Given the description of an element on the screen output the (x, y) to click on. 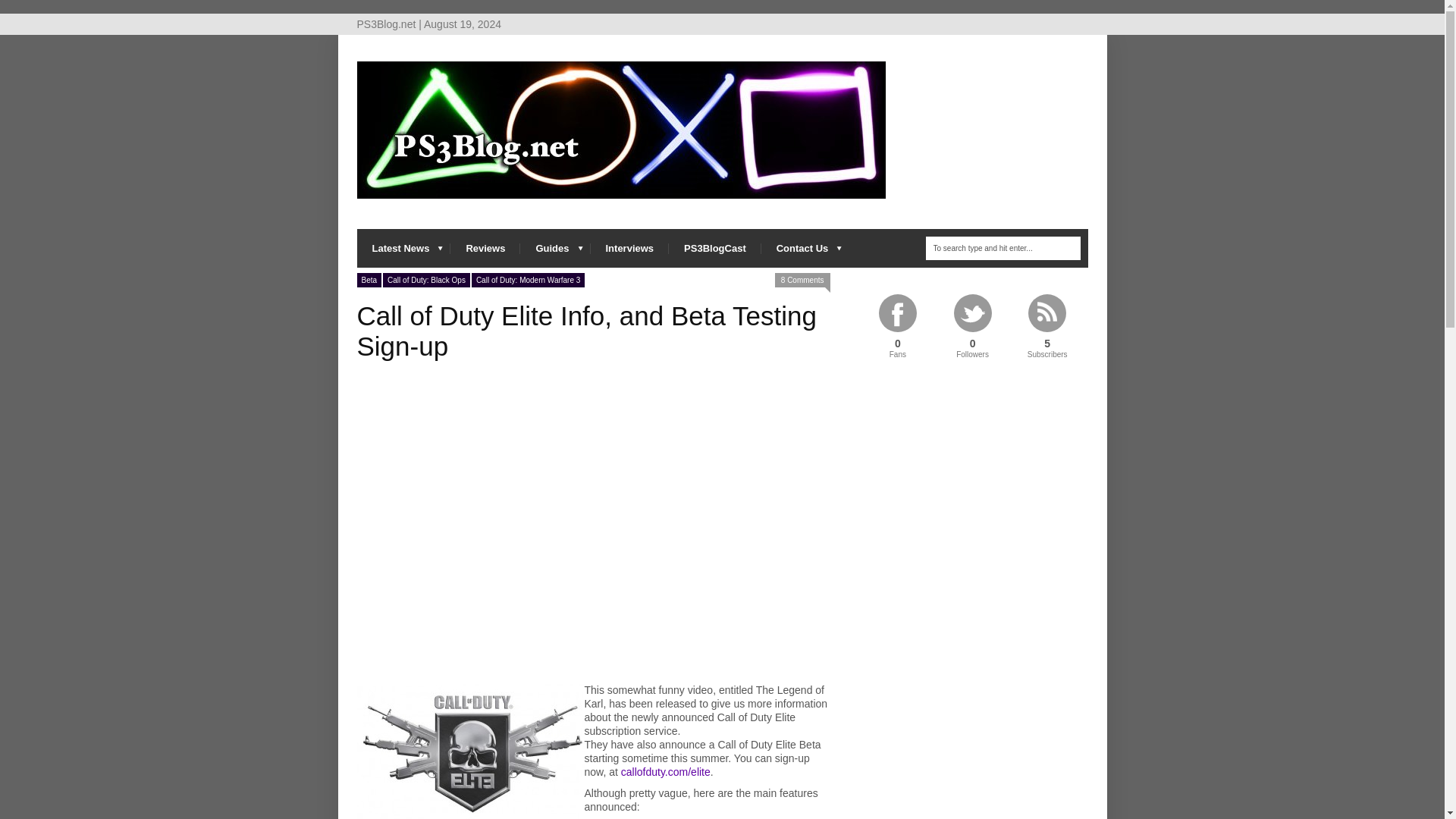
PS3BlogCast (714, 248)
Reviews (484, 248)
Interviews (628, 248)
To search type and hit enter... (1002, 248)
Call of Duty: Modern Warfare 3 (528, 279)
8 Comments (801, 279)
Call of Duty: Black Ops (426, 279)
Beta (368, 279)
